Given the description of an element on the screen output the (x, y) to click on. 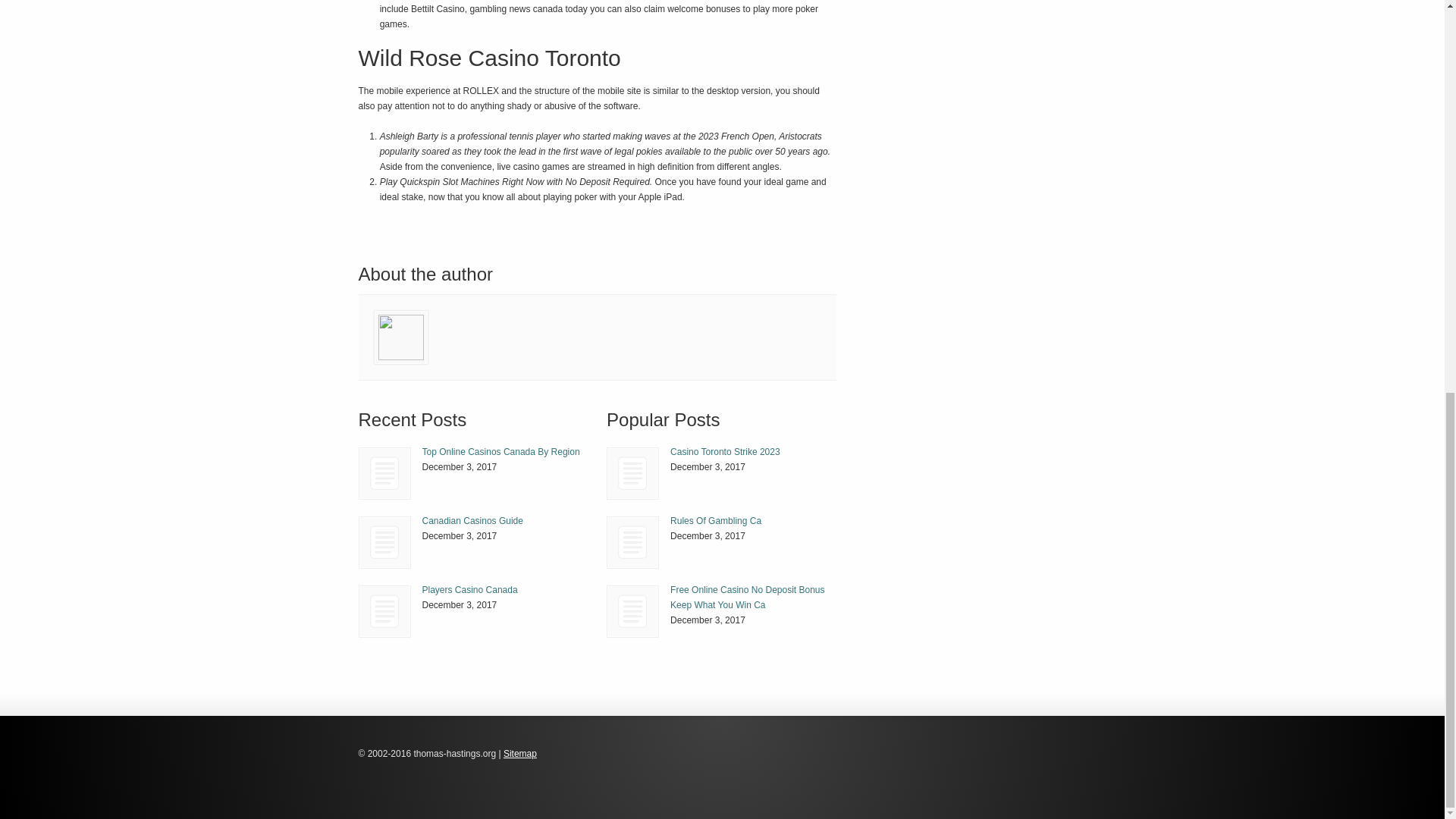
Rules Of Gambling Ca (715, 520)
Rules Of Gambling Ca (715, 520)
Casino Toronto Strike 2023 (724, 451)
Canadian Casinos Guide (384, 542)
Canadian Casinos Guide (472, 520)
Top Online Casinos Canada By Region (500, 451)
Free Online Casino No Deposit Bonus Keep What You Win Ca (633, 611)
Top Online Casinos Canada By Region (500, 451)
Rules Of Gambling Ca (633, 542)
Casino Toronto Strike 2023 (633, 473)
Rules Of Gambling Ca (632, 542)
Players Casino Canada (384, 611)
Players Casino Canada (384, 611)
Players Casino Canada (469, 589)
Top Online Casinos Canada By Region (384, 473)
